Given the description of an element on the screen output the (x, y) to click on. 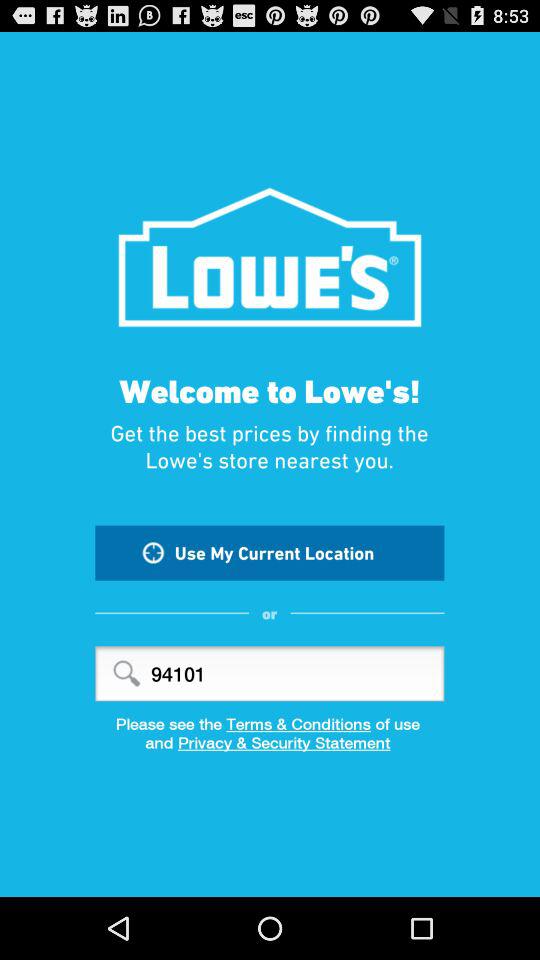
scroll until use my current icon (269, 552)
